Given the description of an element on the screen output the (x, y) to click on. 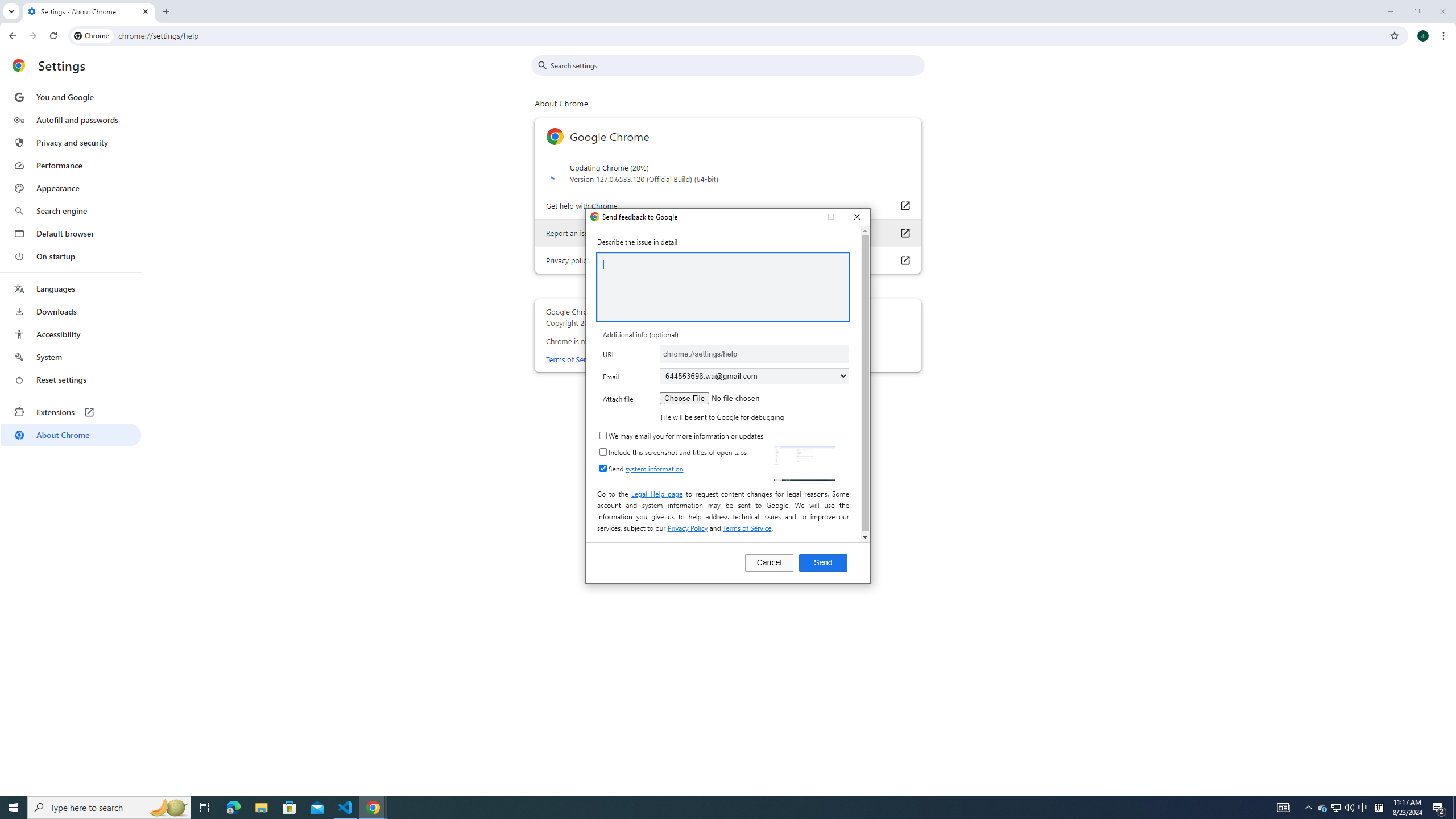
Performance (70, 164)
AutomationID: 4105 (1283, 807)
Privacy policy (904, 259)
Email (753, 375)
Q2790: 100% (1349, 807)
Notification Chevron (1308, 807)
File Explorer (1362, 807)
You and Google (261, 807)
Microsoft Edge (70, 96)
Maximize (233, 807)
Describe the issue in detail (831, 217)
About Chrome (722, 287)
Default browser (70, 434)
Search engine (70, 233)
